Given the description of an element on the screen output the (x, y) to click on. 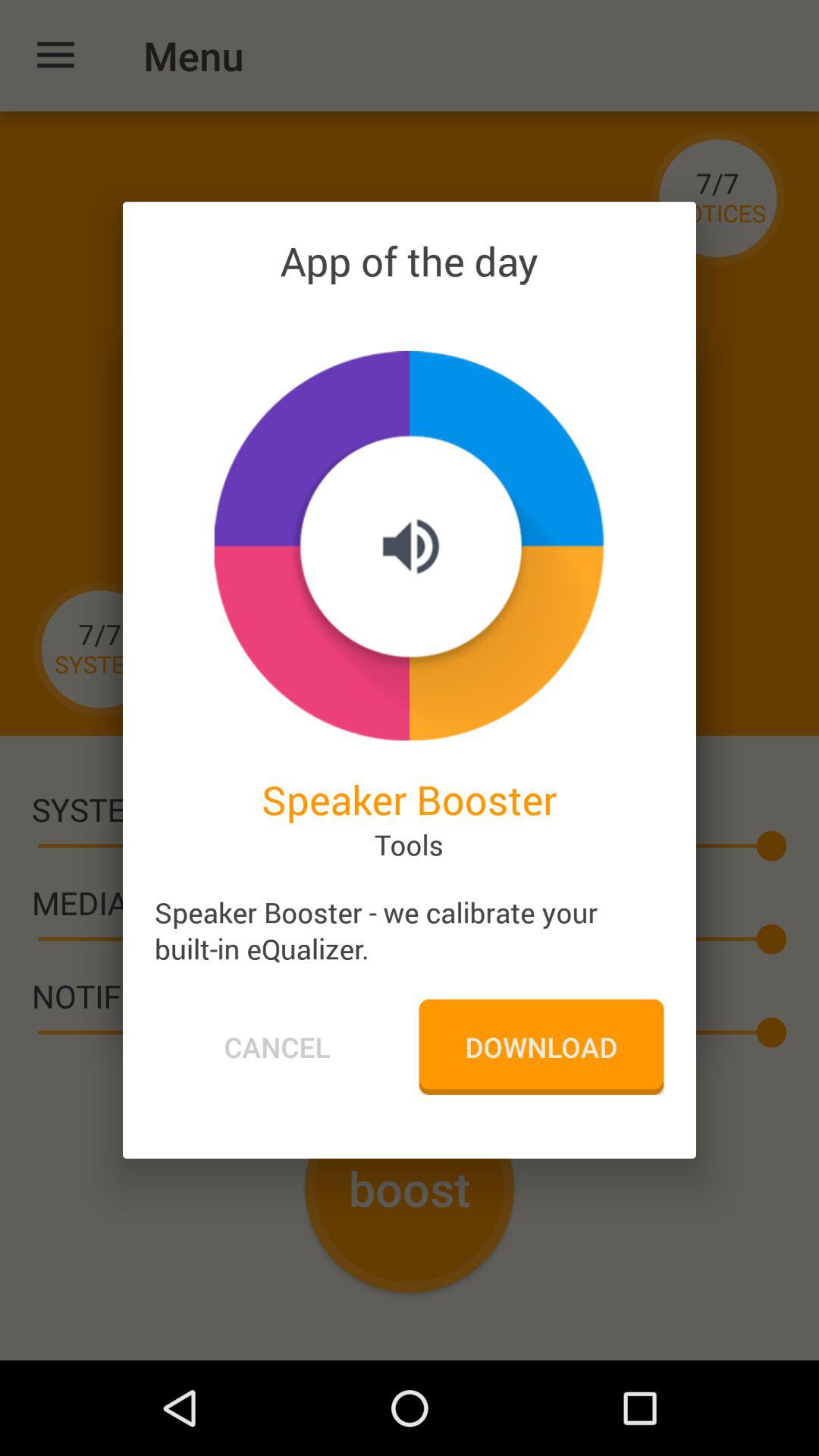
launch item above speaker booster item (408, 545)
